Given the description of an element on the screen output the (x, y) to click on. 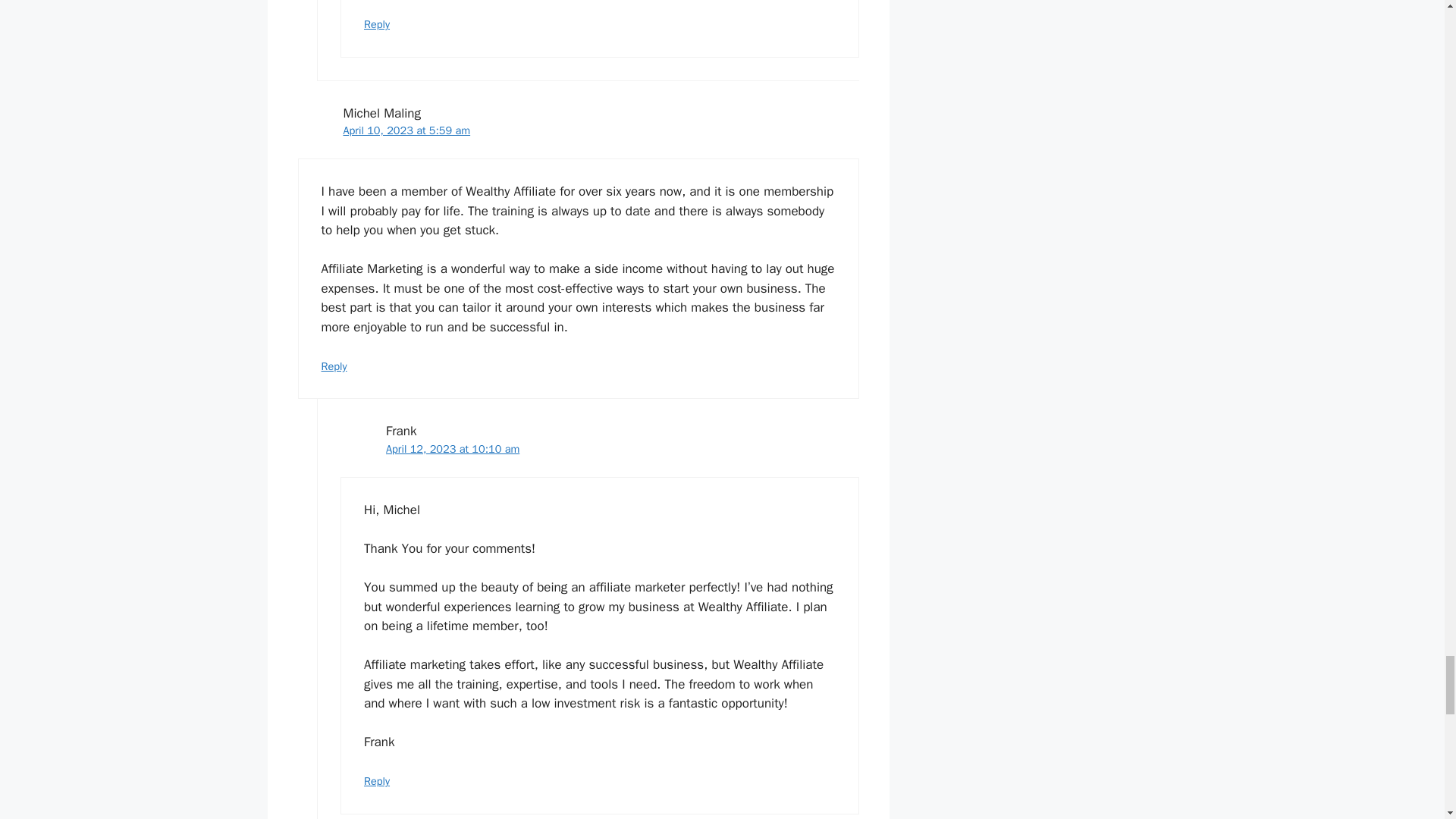
Reply (334, 366)
April 10, 2023 at 5:59 am (406, 130)
April 12, 2023 at 10:10 am (452, 448)
Reply (377, 24)
Reply (377, 780)
